Given the description of an element on the screen output the (x, y) to click on. 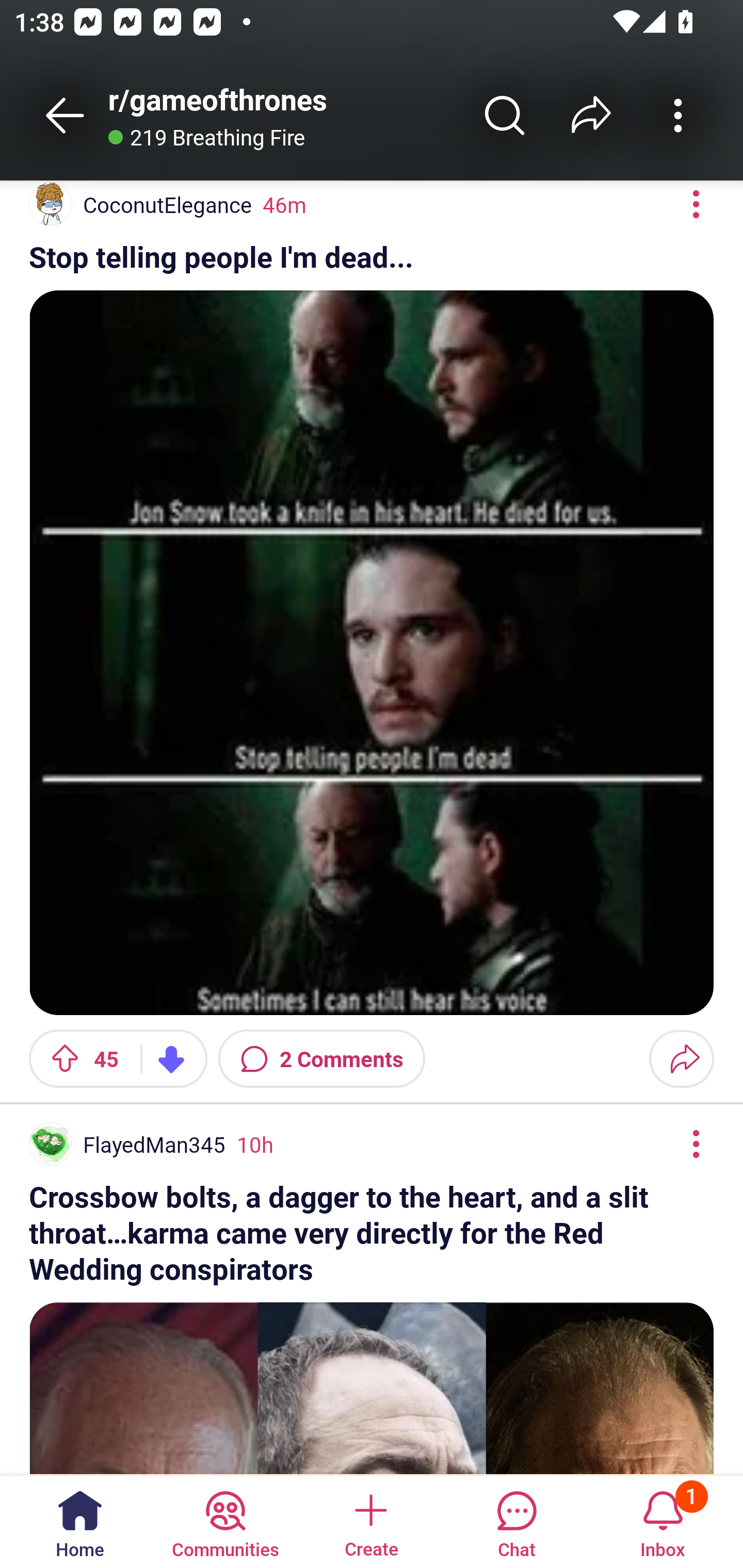
Back (64, 115)
Search r/﻿gameofthrones (504, 115)
Share r/﻿gameofthrones (591, 115)
More community actions (677, 115)
Home (80, 1520)
Communities (225, 1520)
Create a post Create (370, 1520)
Chat (516, 1520)
Inbox, has 1 notification 1 Inbox (662, 1520)
